Given the description of an element on the screen output the (x, y) to click on. 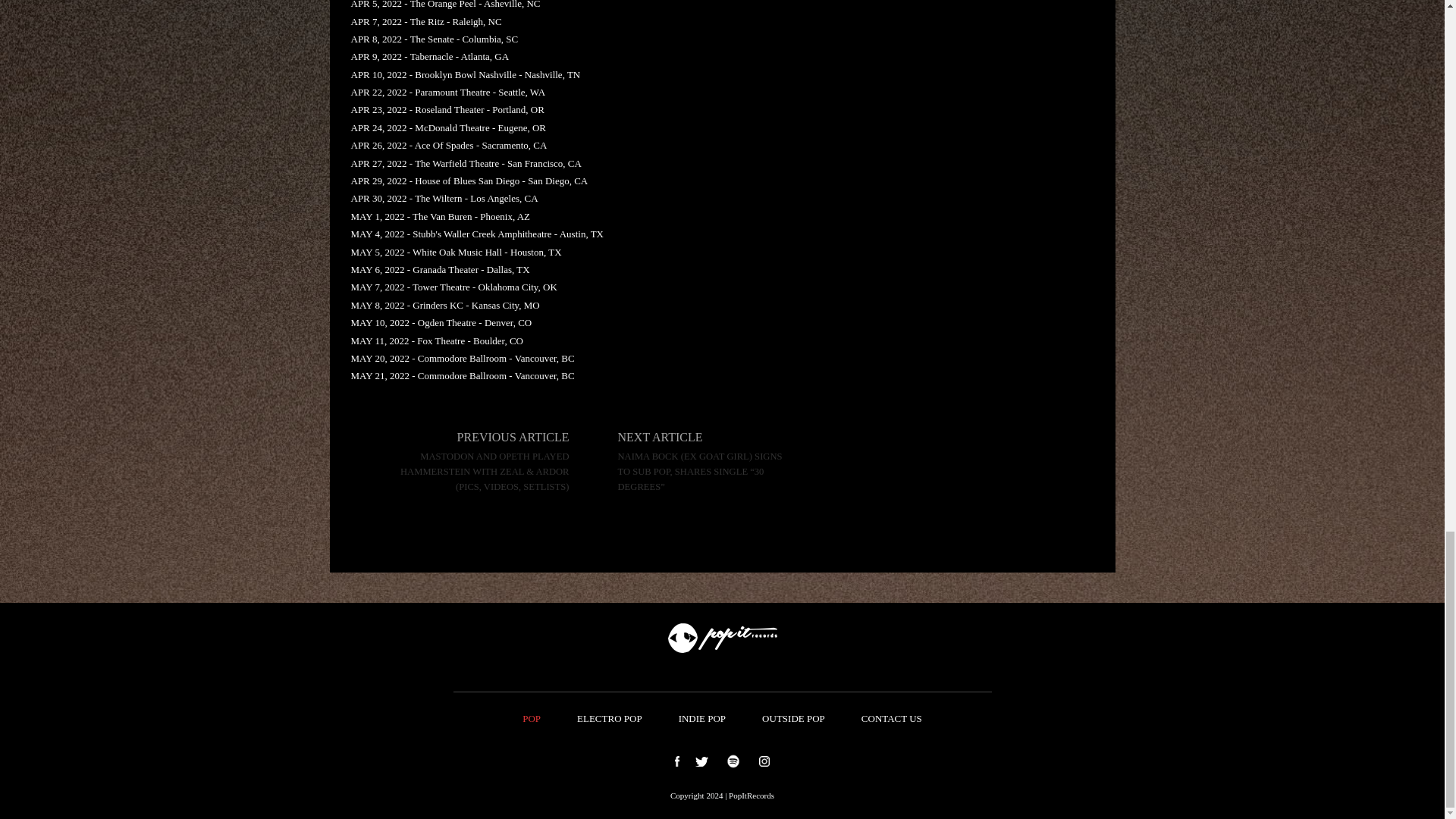
INDIE POP (702, 718)
OUTSIDE POP (793, 718)
POP (531, 718)
ELECTRO POP (610, 718)
CONTACT US (891, 718)
